Given the description of an element on the screen output the (x, y) to click on. 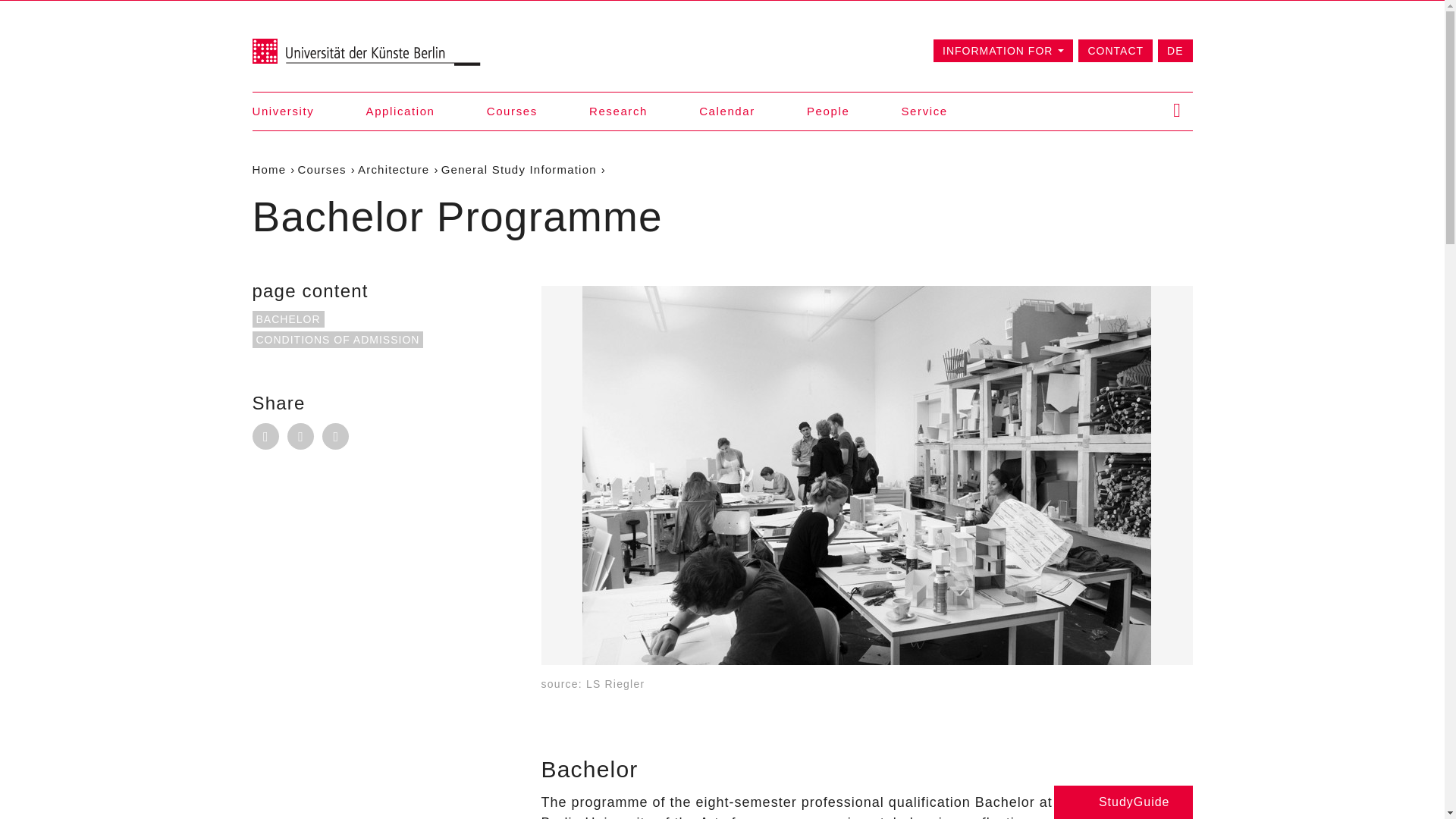
People (827, 111)
Architecture (393, 169)
StudyGuide (1123, 802)
CONTACT (1115, 50)
Bachelor (287, 319)
CONDITIONS OF ADMISSION (337, 339)
University (282, 111)
Conditions of Admission (337, 339)
Share on Twitter (335, 436)
Application (400, 111)
Share on Facebook (300, 436)
General Study Information (518, 169)
Home (268, 169)
Courses (322, 169)
Deutsche Version (1174, 50)
